Given the description of an element on the screen output the (x, y) to click on. 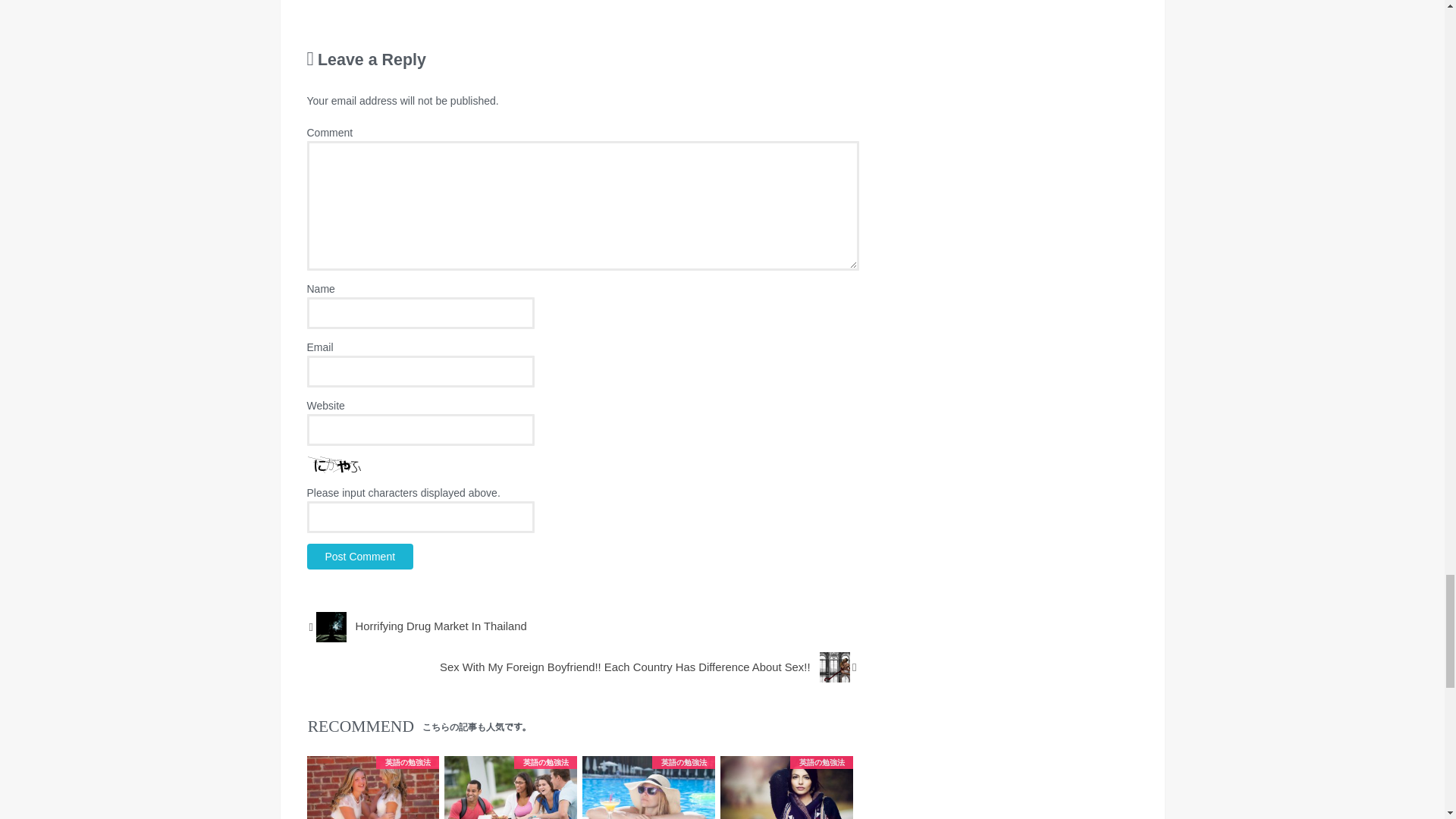
Post Comment (359, 556)
